Given the description of an element on the screen output the (x, y) to click on. 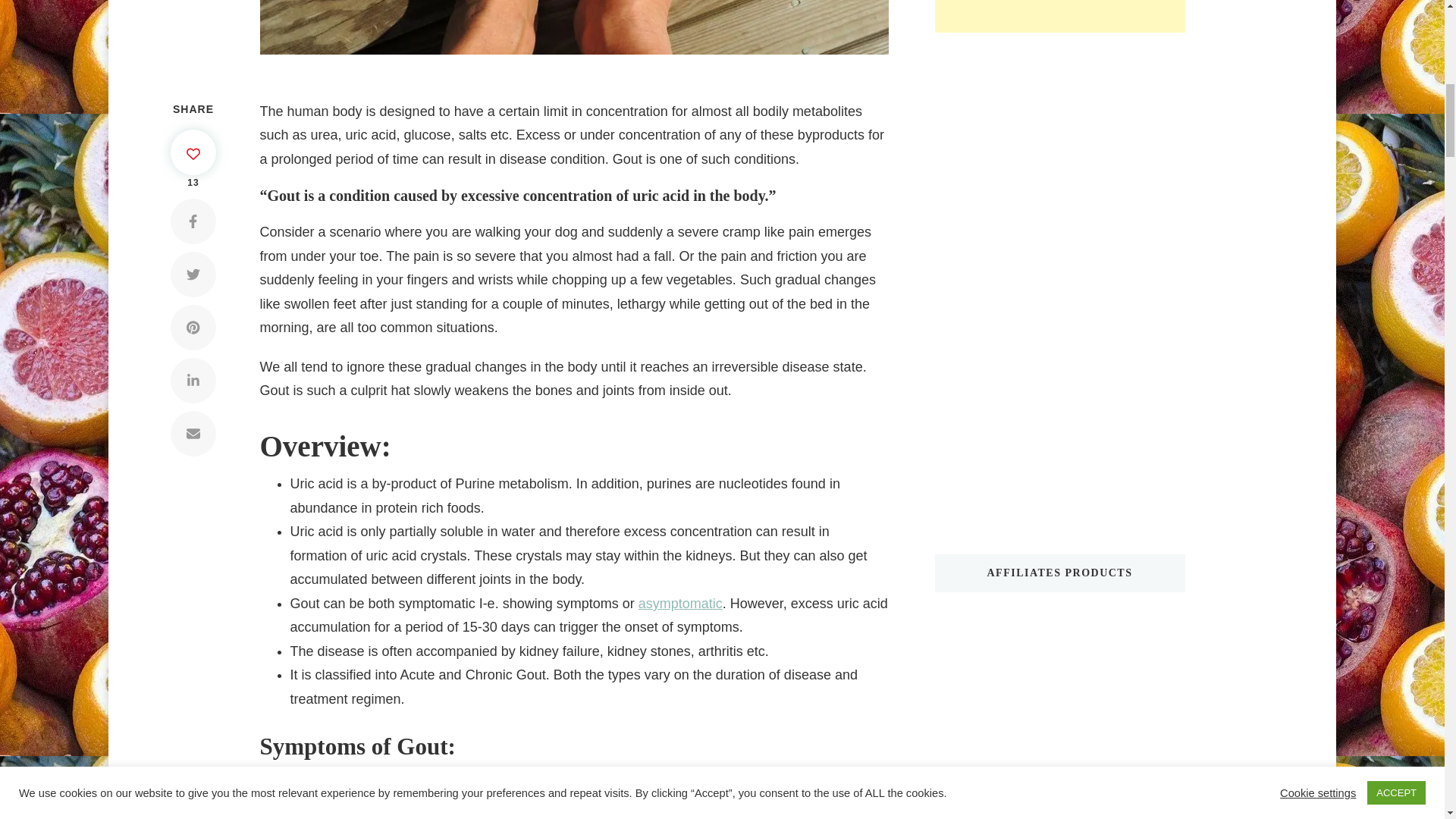
asymptomatic (680, 603)
